Given the description of an element on the screen output the (x, y) to click on. 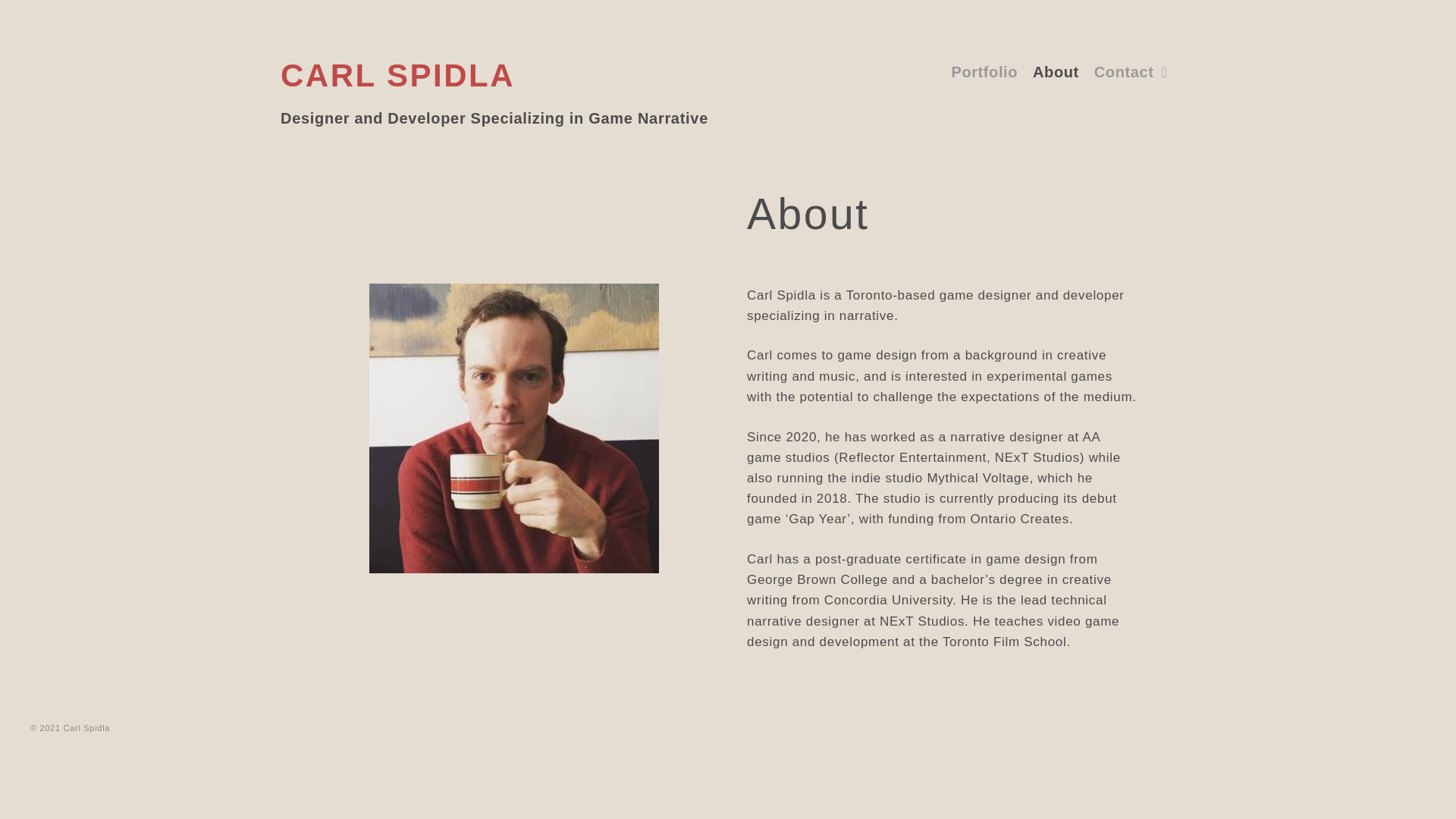
About (1055, 71)
Portfolio (984, 71)
CARL SPIDLA (398, 75)
Contact (1130, 71)
